Given the description of an element on the screen output the (x, y) to click on. 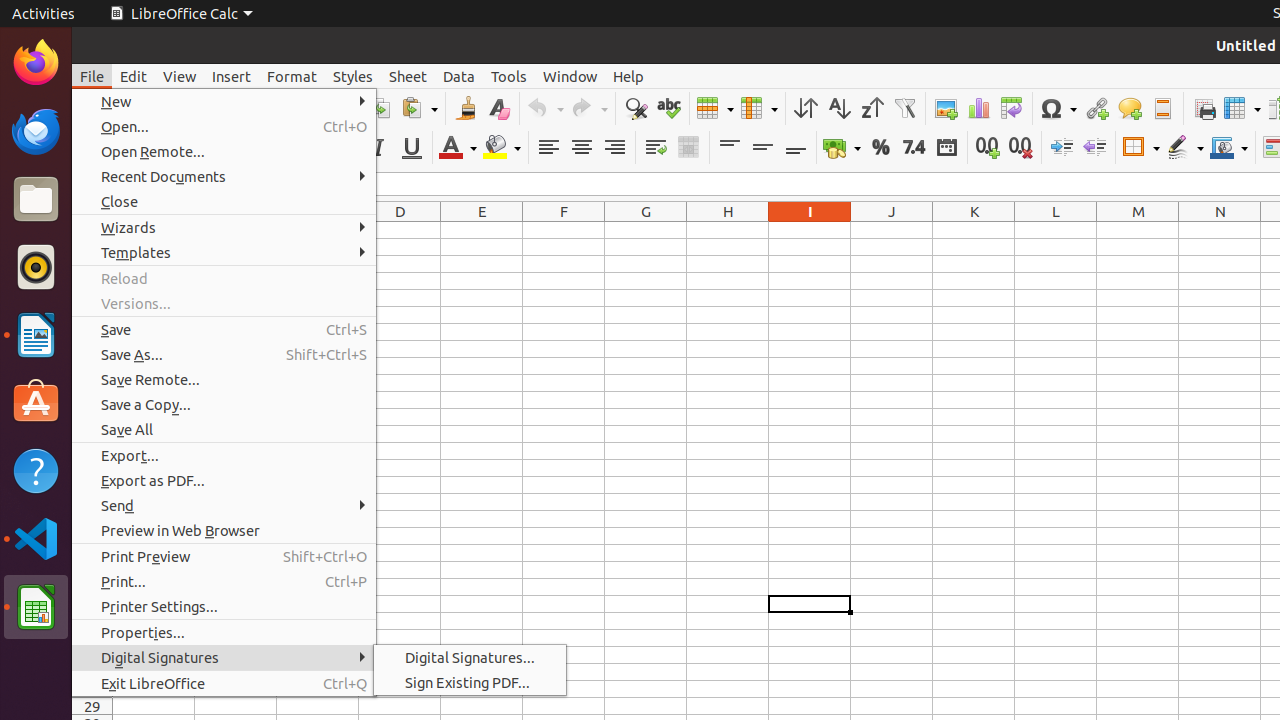
Window Element type: menu (570, 76)
Percent Element type: push-button (880, 147)
LibreOffice Calc Element type: menu (181, 13)
L1 Element type: table-cell (1056, 230)
Wrap Text Element type: push-button (655, 147)
